Given the description of an element on the screen output the (x, y) to click on. 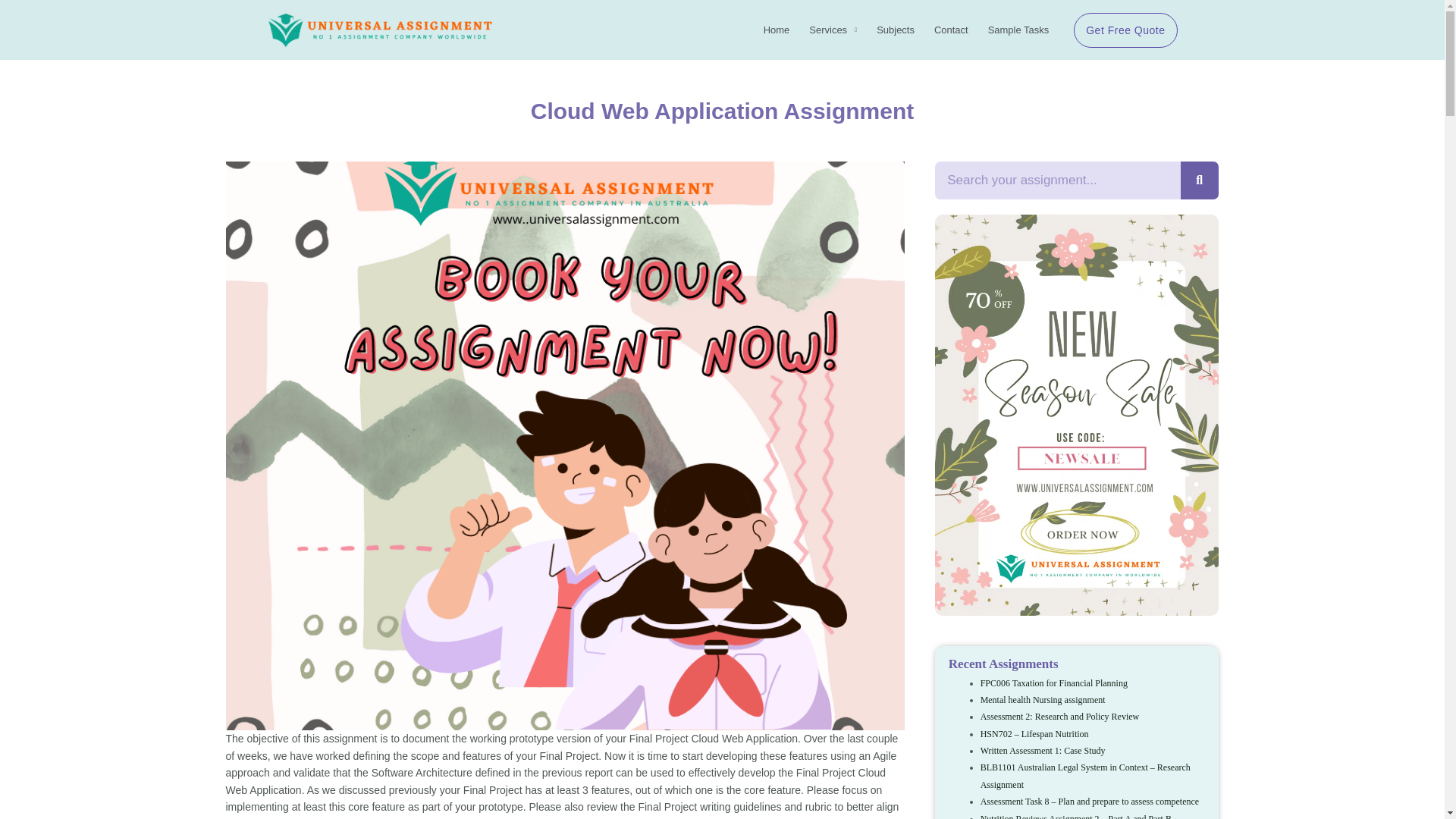
Home (776, 30)
Services (832, 30)
Subjects (895, 30)
Contact (951, 30)
